Given the description of an element on the screen output the (x, y) to click on. 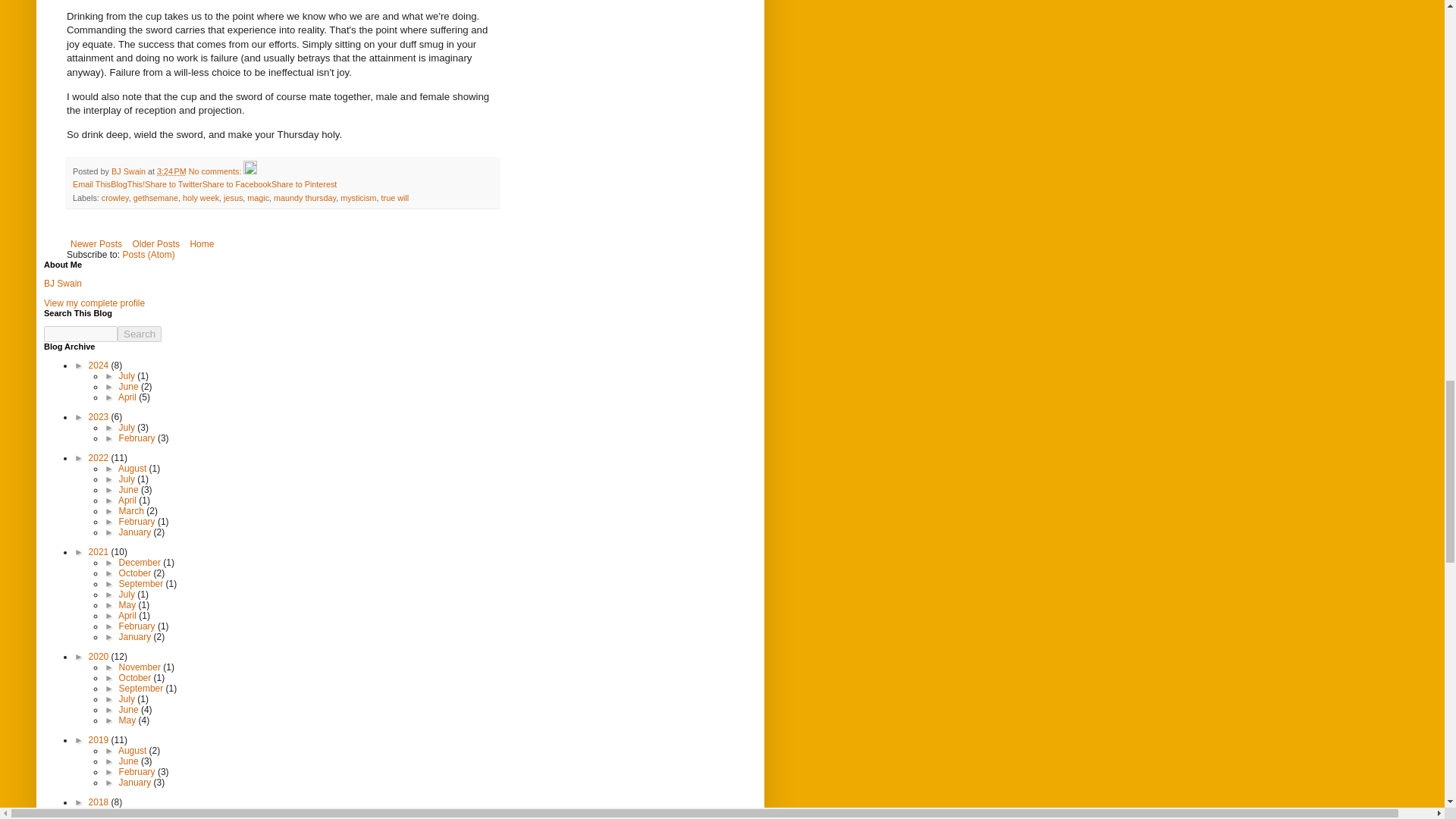
Share to Twitter (173, 184)
mysticism (357, 197)
Search (139, 333)
Share to Facebook (236, 184)
magic (258, 197)
Email This (91, 184)
Search (139, 333)
Older Posts (155, 244)
2023 (100, 416)
Search (139, 333)
author profile (130, 171)
BlogThis! (127, 184)
search (139, 333)
July (128, 376)
